Given the description of an element on the screen output the (x, y) to click on. 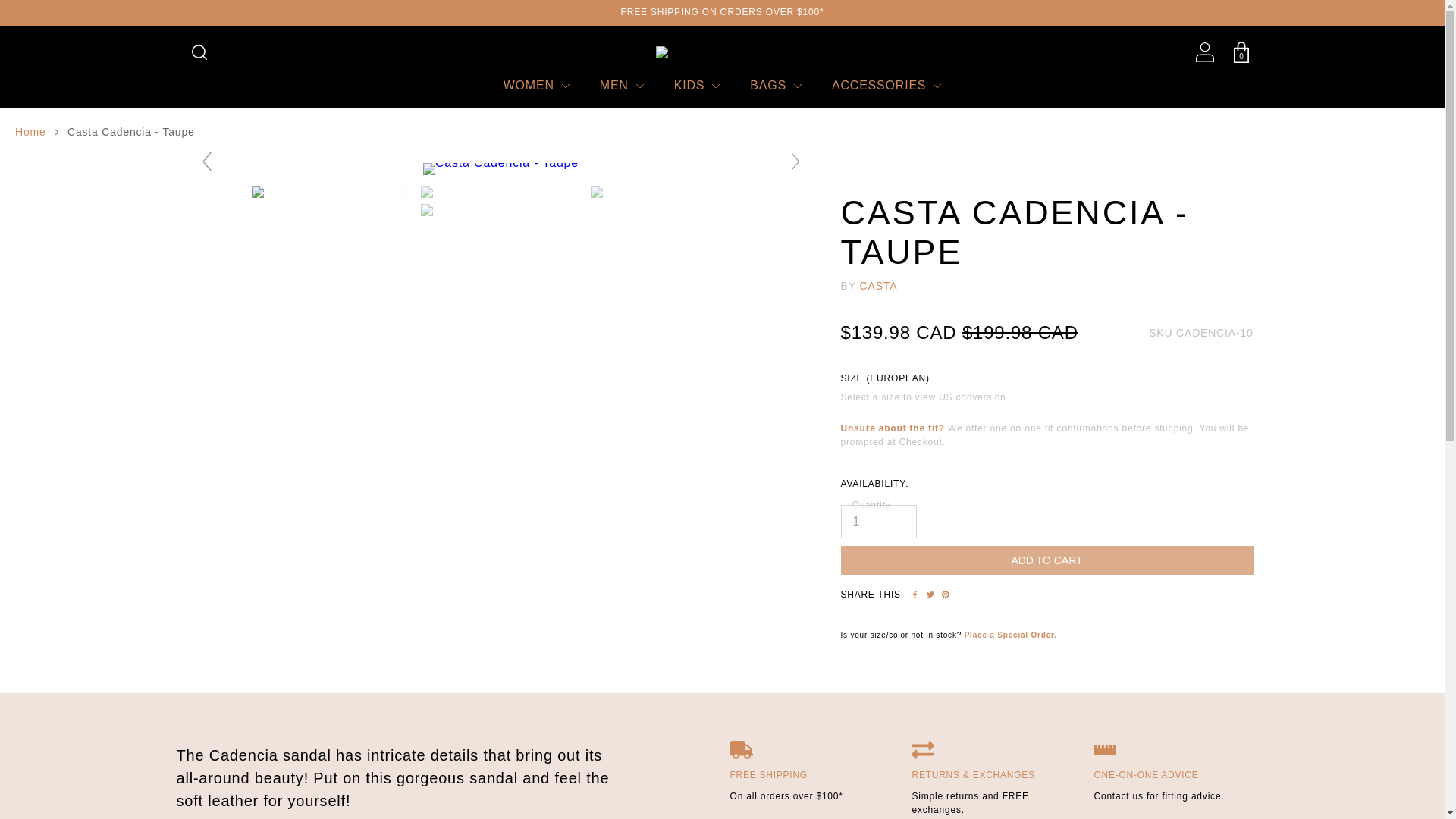
Casta Cadencia - Taupe (670, 191)
Home (30, 132)
Casta Cadencia - Taupe (500, 162)
Casta Cadencia - Taupe (330, 191)
Search (198, 52)
Casta Cadencia - Taupe (499, 209)
Sole City Shoes (722, 51)
Account (1203, 52)
Open Cart (1240, 51)
Casta Cadencia - Taupe (499, 191)
